Given the description of an element on the screen output the (x, y) to click on. 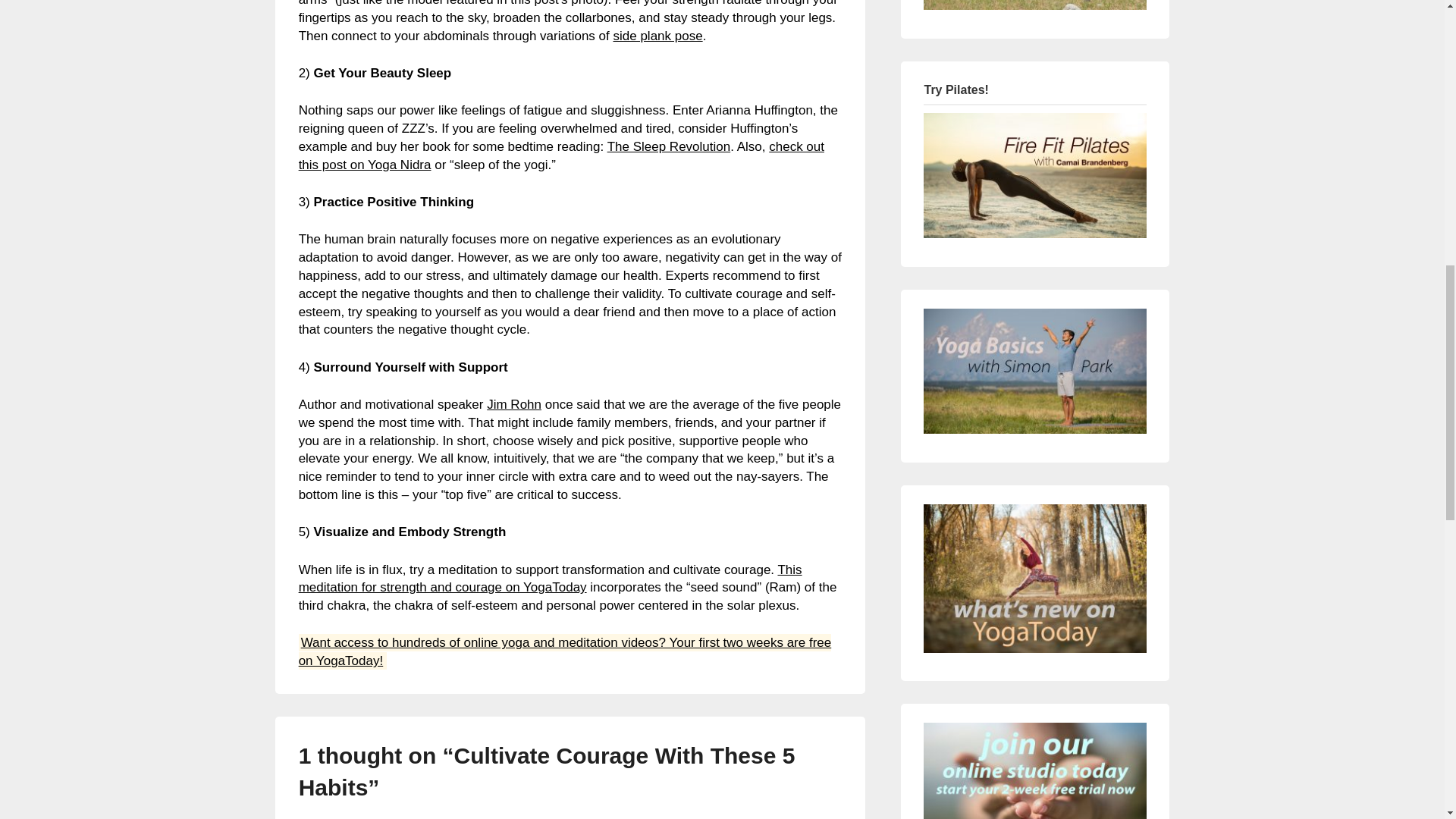
The Sleep Revolution (668, 146)
side plank pose (656, 35)
Happy Healthy Shoulders with Adi Amar (1035, 5)
Jim Rohn (513, 404)
check out this post on Yoga Nidra (561, 155)
This meditation for strength and courage on YogaToday (550, 578)
